Given the description of an element on the screen output the (x, y) to click on. 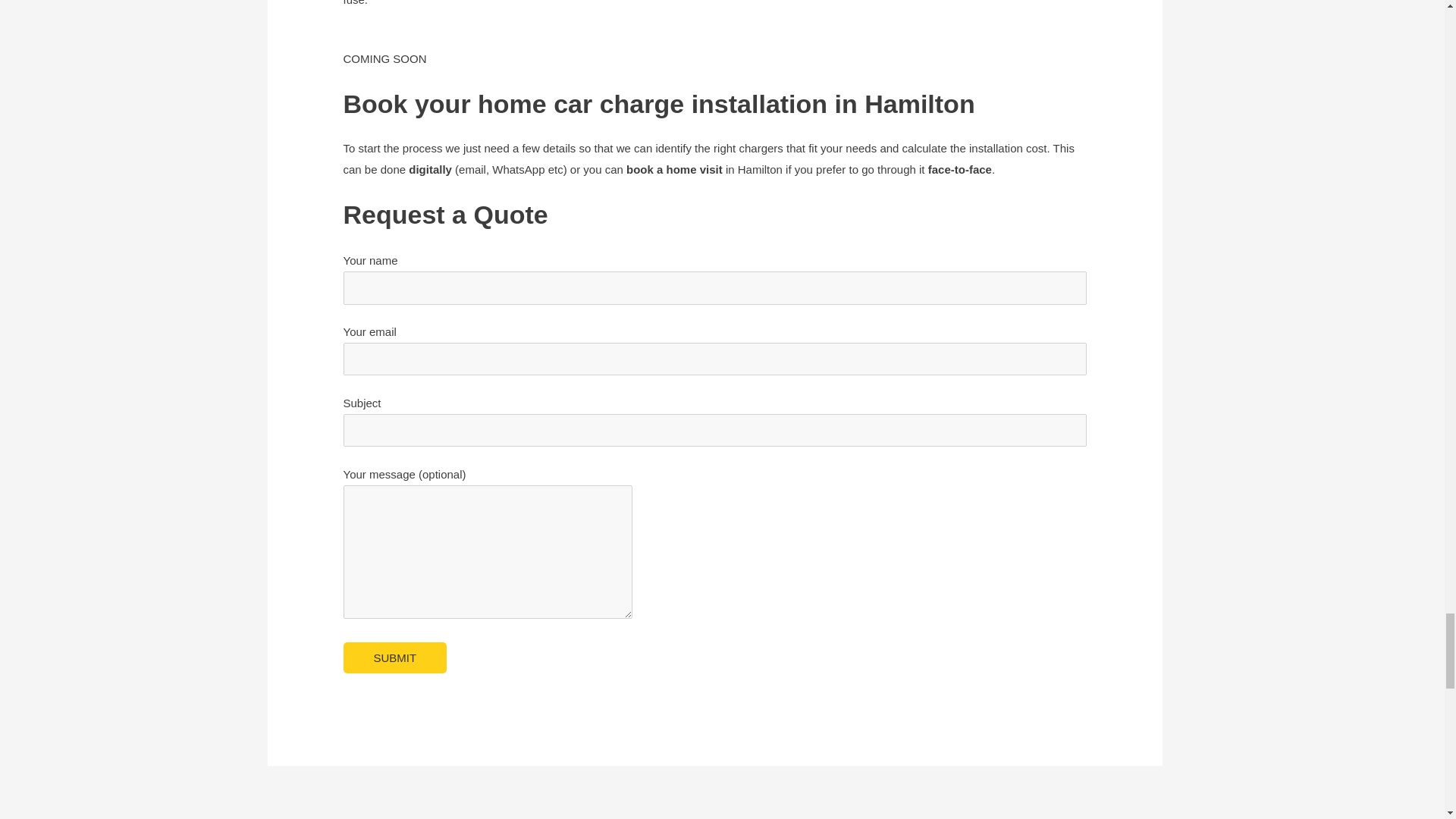
Submit (394, 657)
COMING SOON (384, 69)
Submit (394, 657)
